Given the description of an element on the screen output the (x, y) to click on. 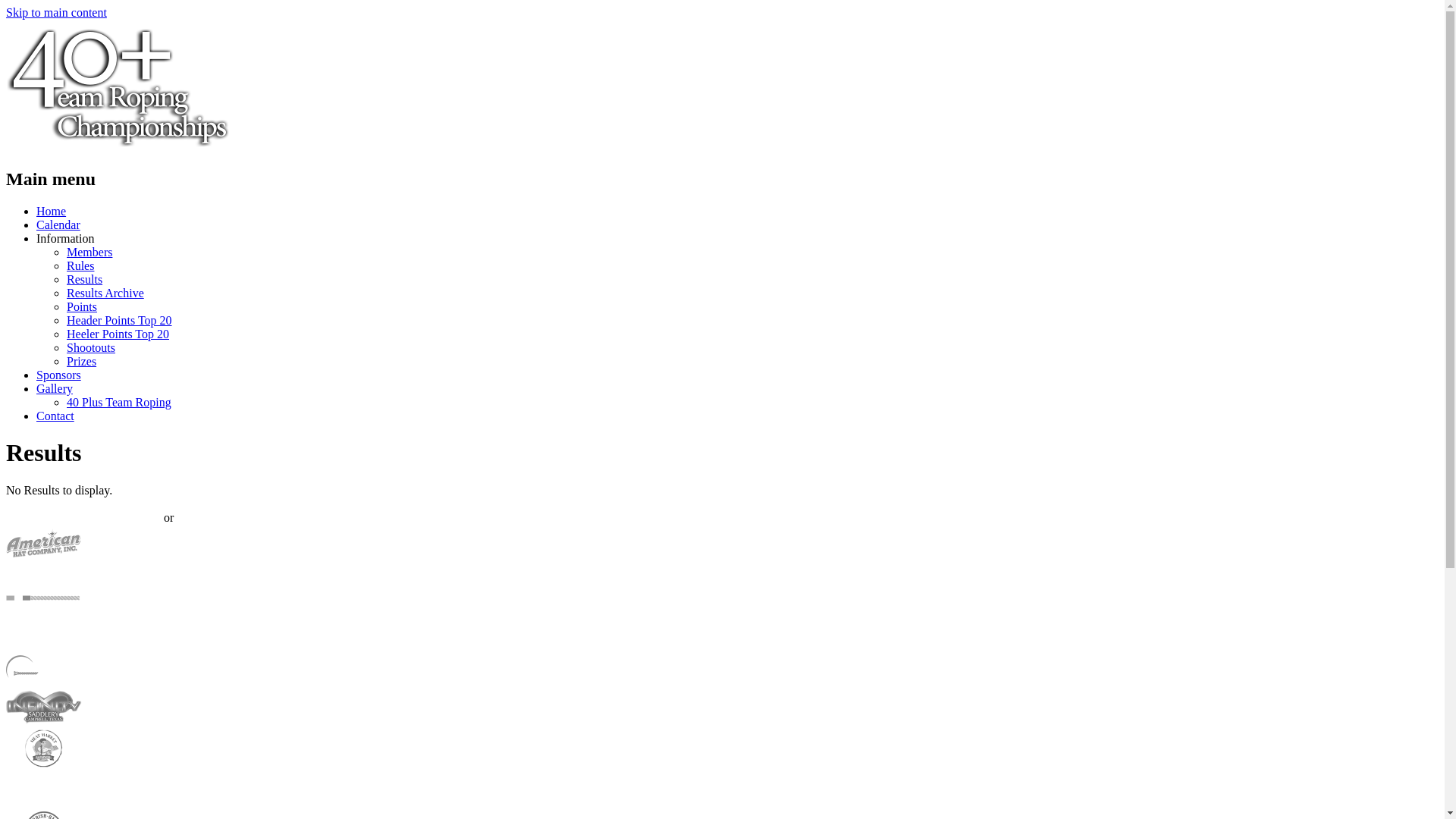
Results Archive Element type: text (105, 292)
Contact Element type: text (55, 415)
Calendar Element type: text (58, 224)
Gallery Element type: text (54, 388)
40 Plus Team Roping Element type: text (118, 401)
Points Element type: text (81, 306)
Members Element type: text (89, 251)
Rules Element type: text (80, 265)
Results Element type: text (84, 279)
Header Points Top 20 Element type: text (119, 319)
Heeler Points Top 20 Element type: text (117, 333)
Prizes Element type: text (81, 360)
Sponsors Element type: text (58, 374)
Home Element type: text (50, 210)
Shootouts Element type: text (90, 347)
Home Element type: hover (119, 146)
Skip to main content Element type: text (56, 12)
